Given the description of an element on the screen output the (x, y) to click on. 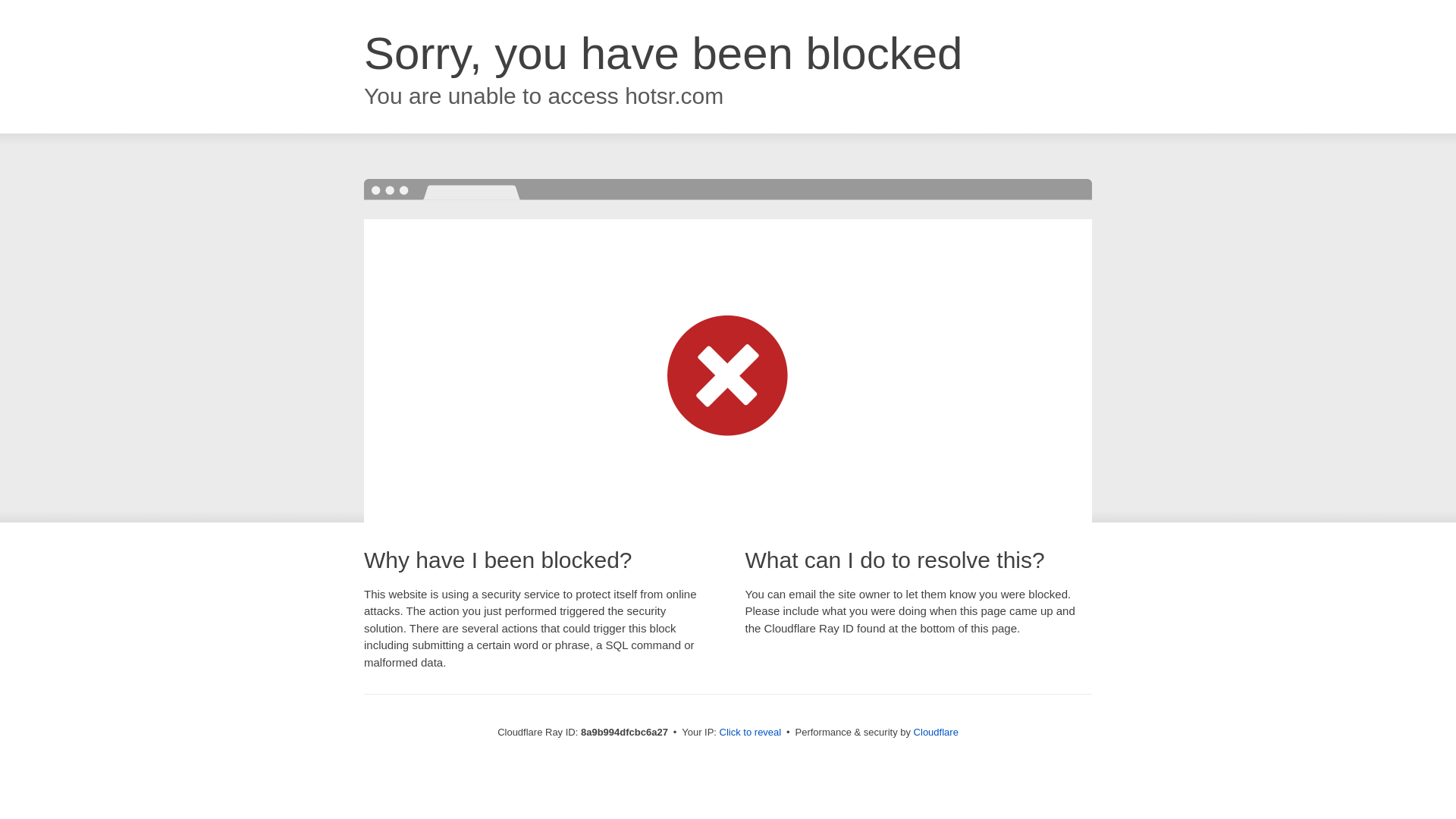
Cloudflare (936, 731)
Click to reveal (750, 732)
